Given the description of an element on the screen output the (x, y) to click on. 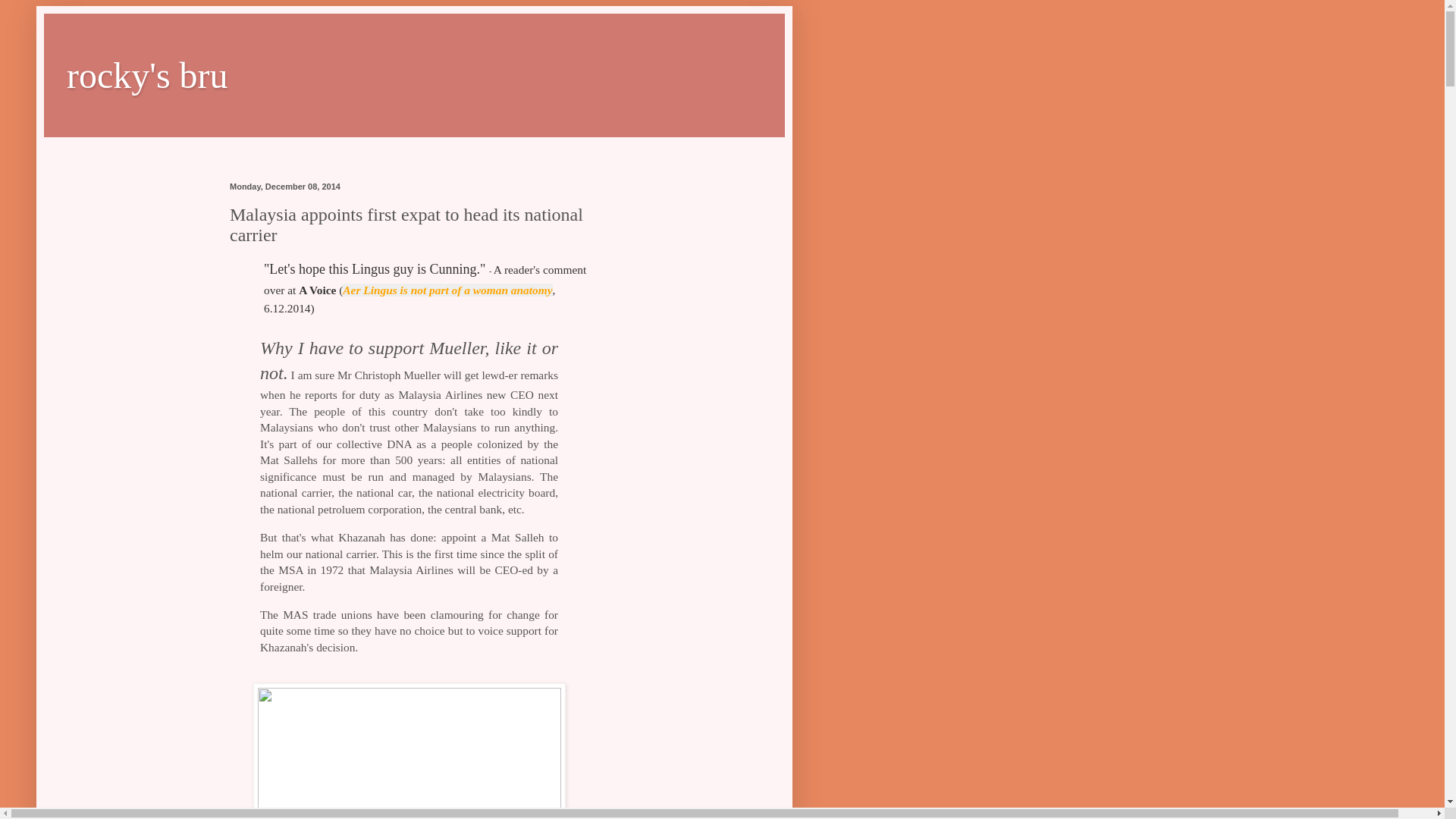
Aer Lingus is not part of a woman anatomy (446, 289)
rocky's bru (147, 75)
